Given the description of an element on the screen output the (x, y) to click on. 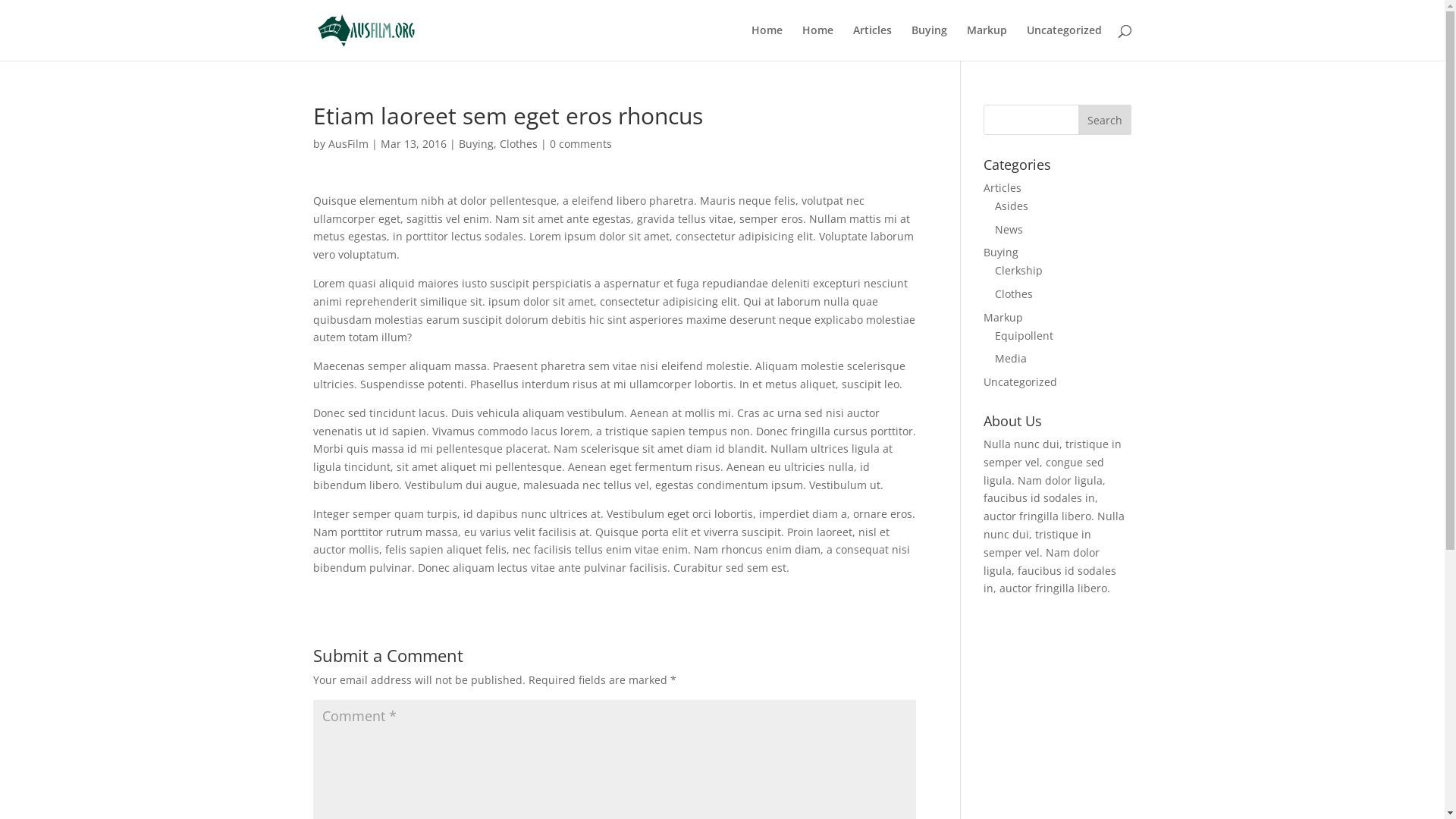
0 comments Element type: text (580, 143)
Asides Element type: text (1011, 205)
Search Element type: text (1104, 119)
Markup Element type: text (986, 42)
Equipollent Element type: text (1023, 335)
Uncategorized Element type: text (1020, 381)
Home Element type: text (765, 42)
Articles Element type: text (1002, 187)
AusFilm Element type: text (347, 143)
Buying Element type: text (1000, 251)
Media Element type: text (1010, 358)
Clothes Element type: text (517, 143)
Articles Element type: text (871, 42)
Buying Element type: text (929, 42)
Markup Element type: text (1002, 317)
Uncategorized Element type: text (1063, 42)
Buying Element type: text (475, 143)
Home Element type: text (817, 42)
Clothes Element type: text (1013, 293)
News Element type: text (1008, 229)
Clerkship Element type: text (1018, 270)
